Given the description of an element on the screen output the (x, y) to click on. 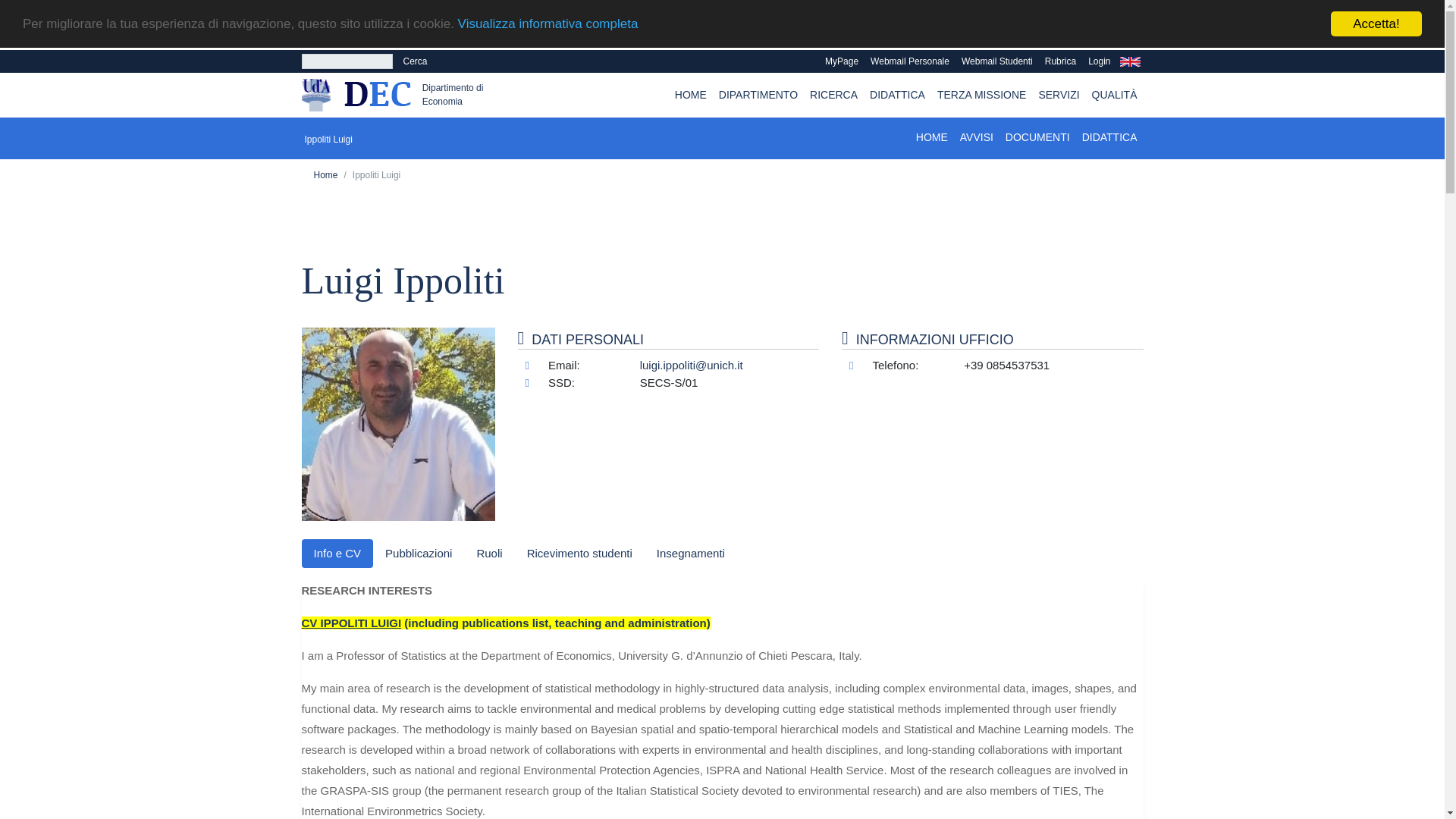
Webmail Personale (909, 61)
DIPARTIMENTO (758, 90)
MyPage (841, 61)
Login (1098, 45)
CV IPPOLITI LUIGI extended 15 ottobre 2022 (505, 622)
MyPage (841, 34)
Webmail Studenti (997, 39)
Webmail Personale (909, 37)
Rubrica (1060, 44)
DIDATTICA (897, 94)
RICERCA (833, 94)
EN (1129, 50)
EN (1129, 61)
HOME (690, 89)
Login (1098, 61)
